Given the description of an element on the screen output the (x, y) to click on. 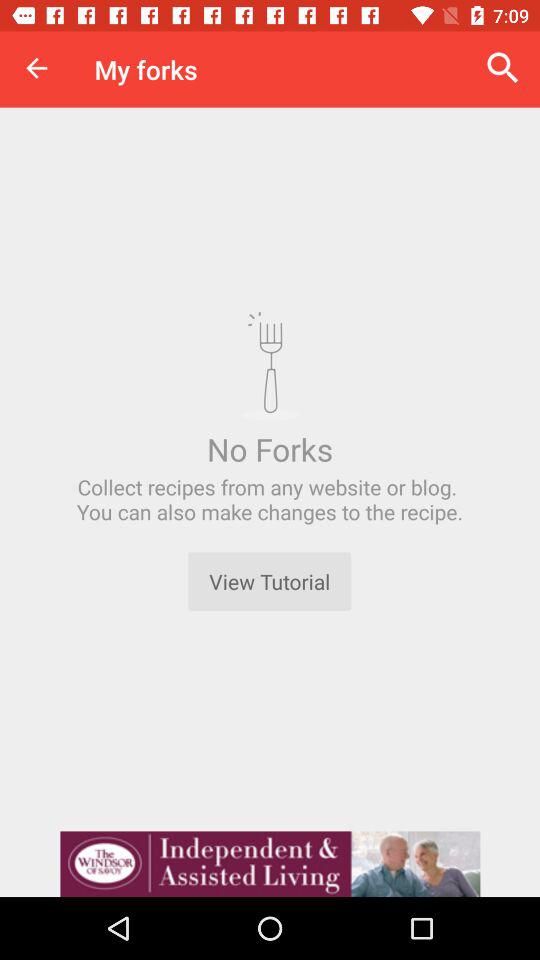
opens the advertisement (270, 864)
